Given the description of an element on the screen output the (x, y) to click on. 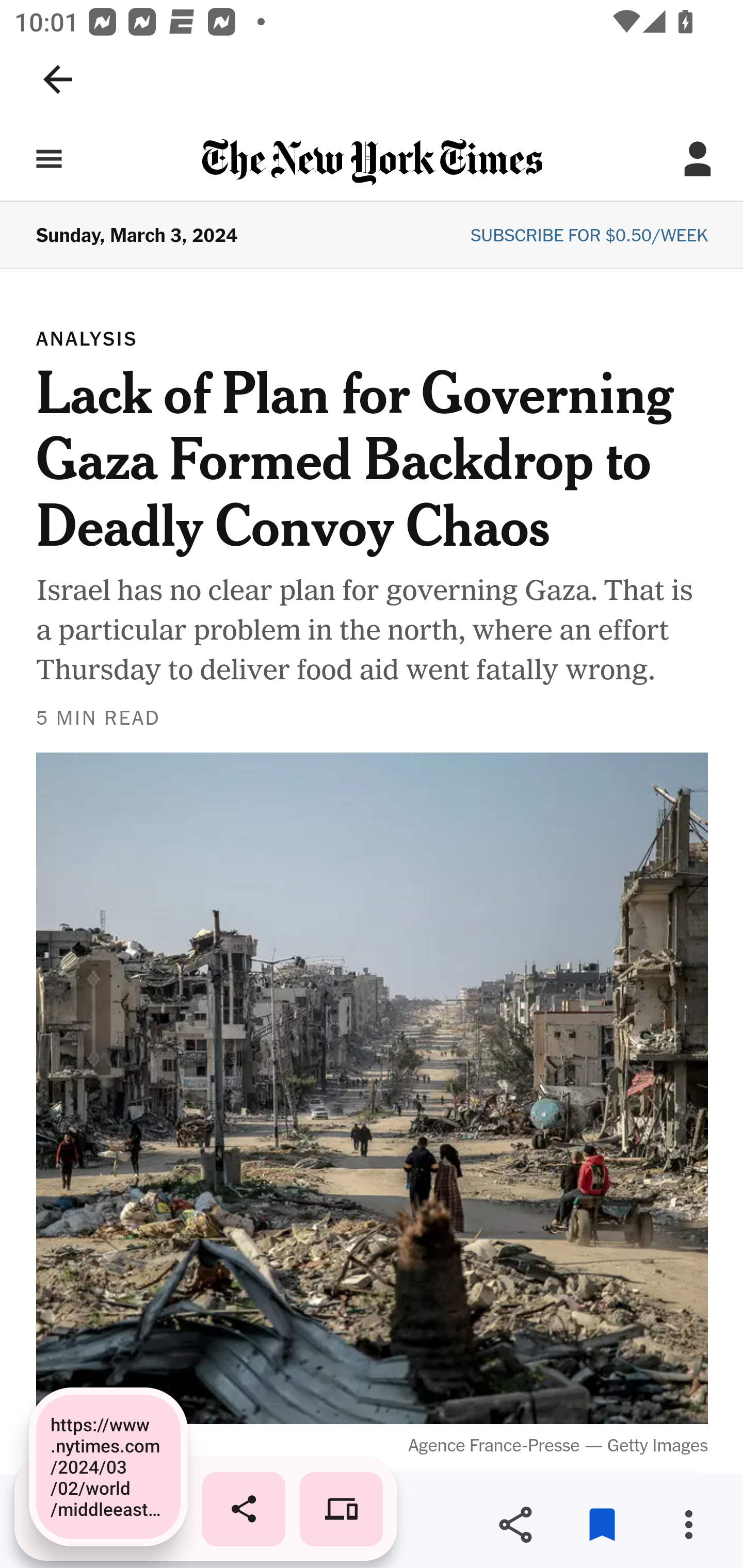
Navigate up (57, 79)
SEARCH & SECTION NAVIGATION (48, 159)
Log in (697, 159)
New York Times homepage (371, 162)
SUBSCRIBE FOR $0.50/WEEK (589, 235)
Share (514, 1524)
Remove from saved stories (601, 1524)
More options (688, 1524)
